Given the description of an element on the screen output the (x, y) to click on. 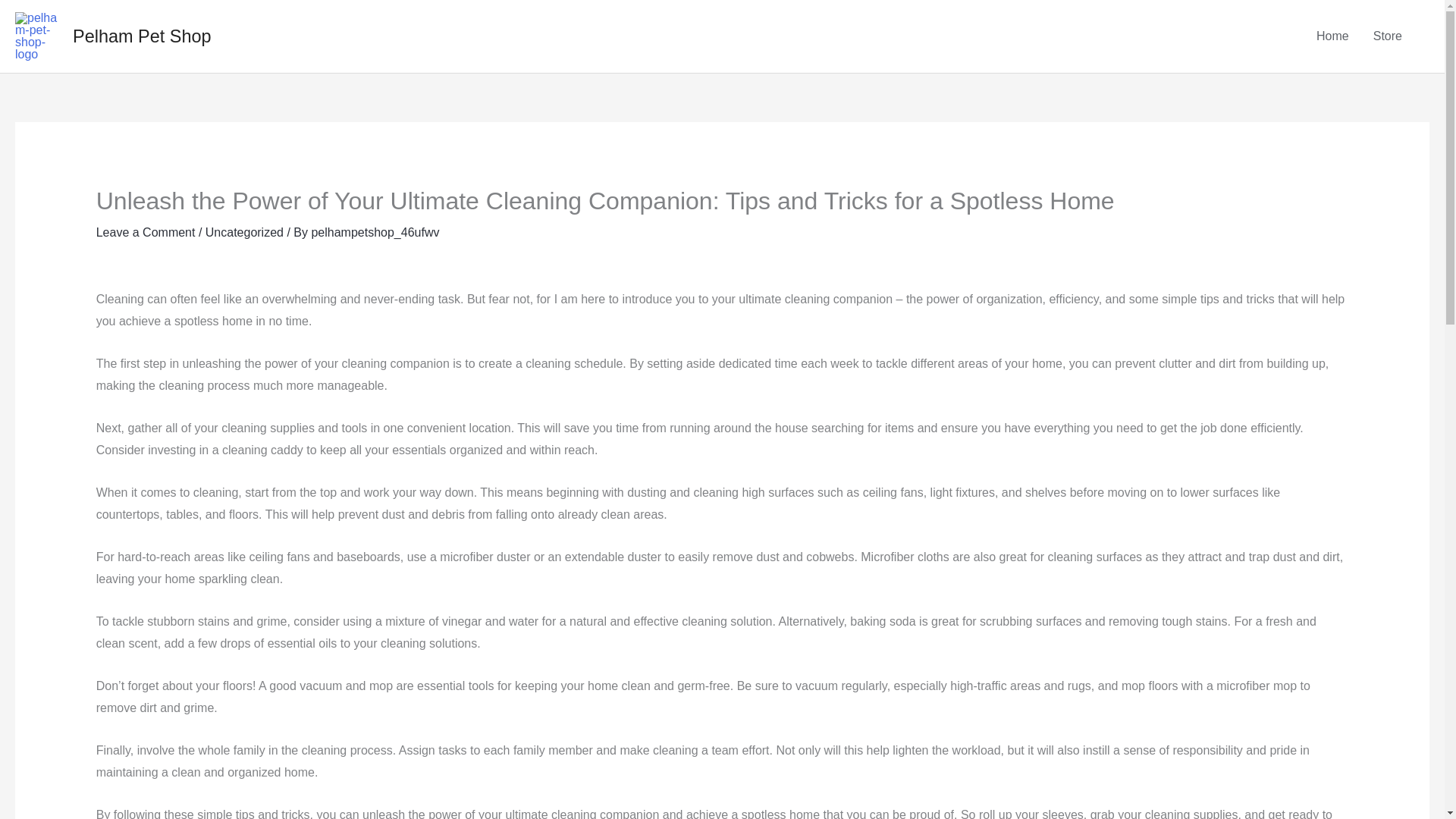
Home (1332, 36)
Store (1387, 36)
Pelham Pet Shop (141, 35)
Leave a Comment (145, 232)
Uncategorized (244, 232)
